Given the description of an element on the screen output the (x, y) to click on. 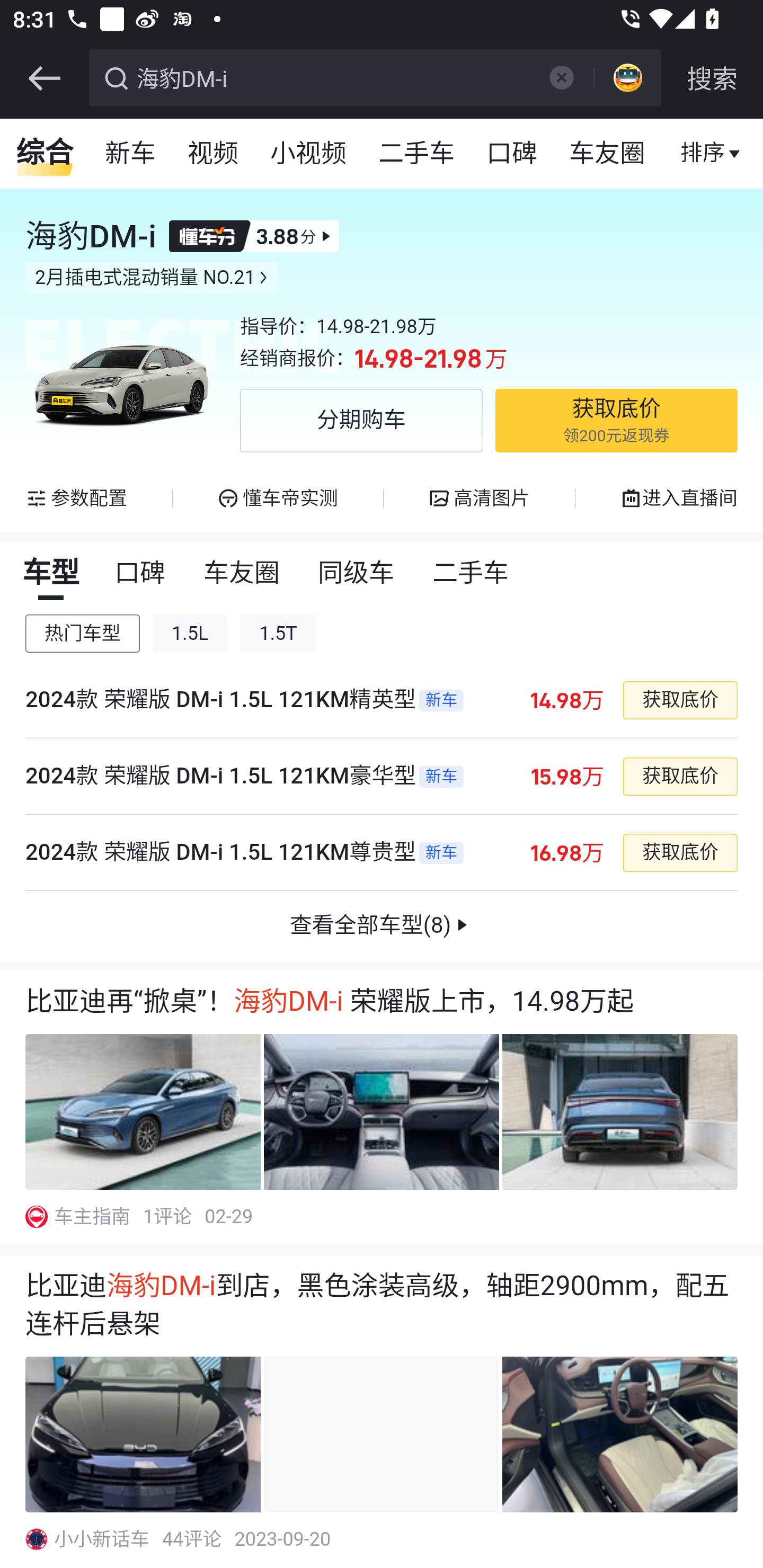
海豹DM-i (331, 76)
 (560, 77)
 (44, 78)
搜索 (711, 78)
综合 (44, 153)
新车 (131, 153)
视频 (213, 153)
小视频 (308, 153)
二手车 (417, 153)
口碑 (512, 153)
车友圈 (608, 153)
直播 (703, 153)
3.88 分 (254, 236)
2月插电式混动销量 NO.21 (151, 277)
经销商报价： 14.98-21.98 万 (488, 358)
分期购车 (361, 420)
获取底价领200元返现券 (615, 420)
参数配置 (76, 498)
懂车帝实测 (276, 498)
高清图片 (479, 498)
进入直播间 (677, 498)
车型 (51, 572)
口碑 (140, 572)
车友圈 (242, 572)
同级车 (357, 572)
二手车 (471, 572)
热门车型 (83, 633)
1.5L (190, 633)
1.5T (278, 633)
2024款 荣耀版 DM-i 1.5L 121KM精英型新车 14.98万 获取底价 (381, 699)
14.98万 (566, 699)
获取底价 (679, 699)
2024款 荣耀版 DM-i 1.5L 121KM豪华型新车 15.98万 获取底价 (381, 776)
15.98万 (566, 775)
获取底价 (679, 775)
2024款 荣耀版 DM-i 1.5L 121KM尊贵型新车 16.98万 获取底价 (381, 852)
16.98万 (566, 852)
获取底价 (679, 852)
查看全部车型(8) (381, 925)
比亚迪再“掀桌”！海豹DM-i 荣耀版上市，14.98万起 (381, 1001)
车主指南 (92, 1216)
947698e552487f3e111085f96d477897~300x300 (36, 1216)
比亚迪海豹DM-i到店，黑色涂装高级，轴距2900mm，配五连杆后悬架 (381, 1304)
小小新话车 (102, 1539)
91b4473bef990336cca54e8a1b2cd04f~300x300 (36, 1539)
